Given the description of an element on the screen output the (x, y) to click on. 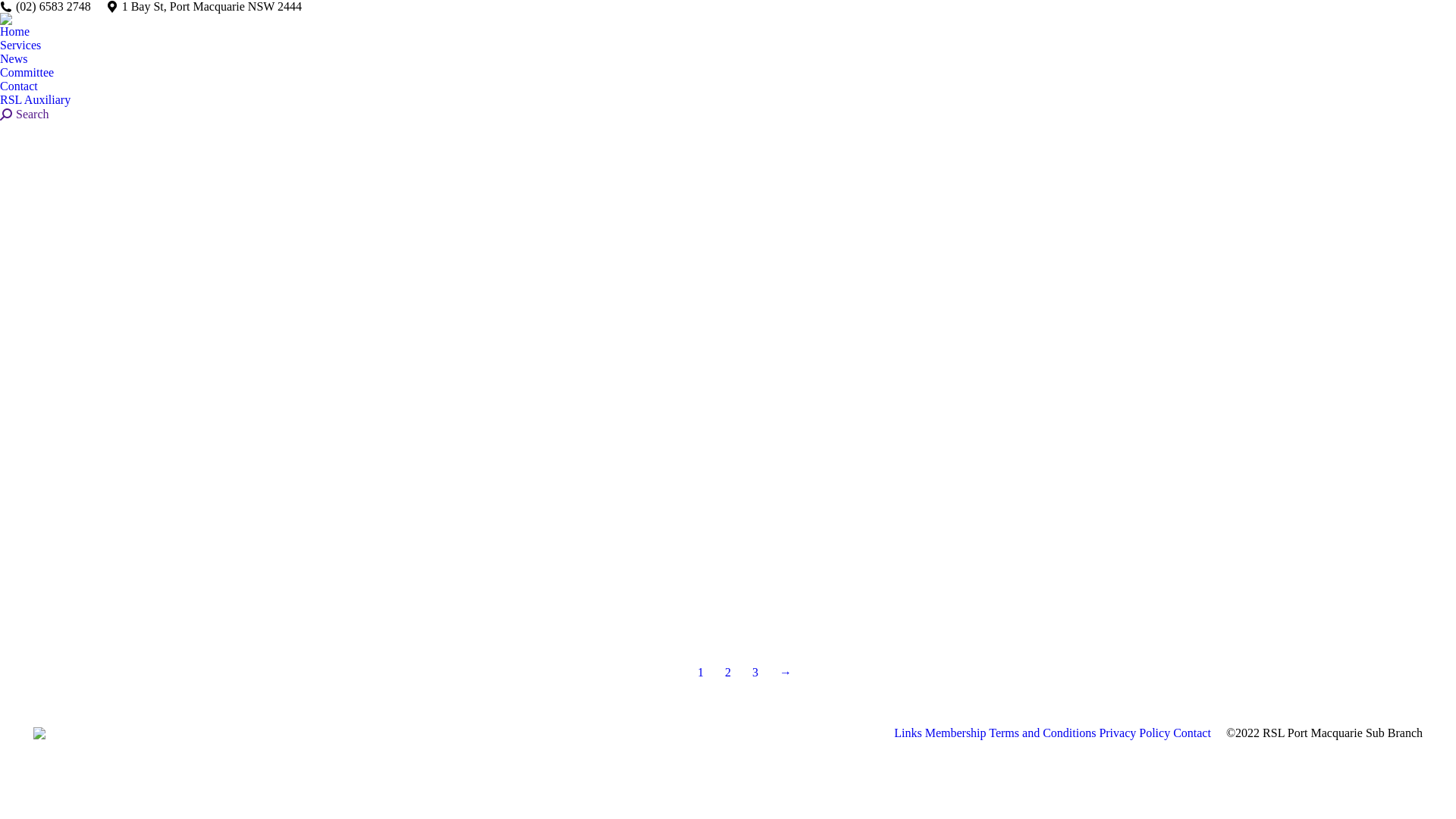
Go! Element type: text (11, 8)
Membership Terms and Conditions Element type: text (1010, 733)
Services Element type: text (20, 45)
Contact Element type: text (1192, 733)
Committee Element type: text (26, 72)
Home Element type: text (14, 31)
RSL Auxiliary Element type: text (35, 99)
News Element type: text (13, 58)
Search Element type: text (24, 114)
Privacy Policy Element type: text (1134, 733)
3 Element type: text (755, 672)
Contact Element type: text (18, 86)
Links Element type: text (907, 733)
1 Element type: text (700, 672)
2 Element type: text (727, 672)
